Given the description of an element on the screen output the (x, y) to click on. 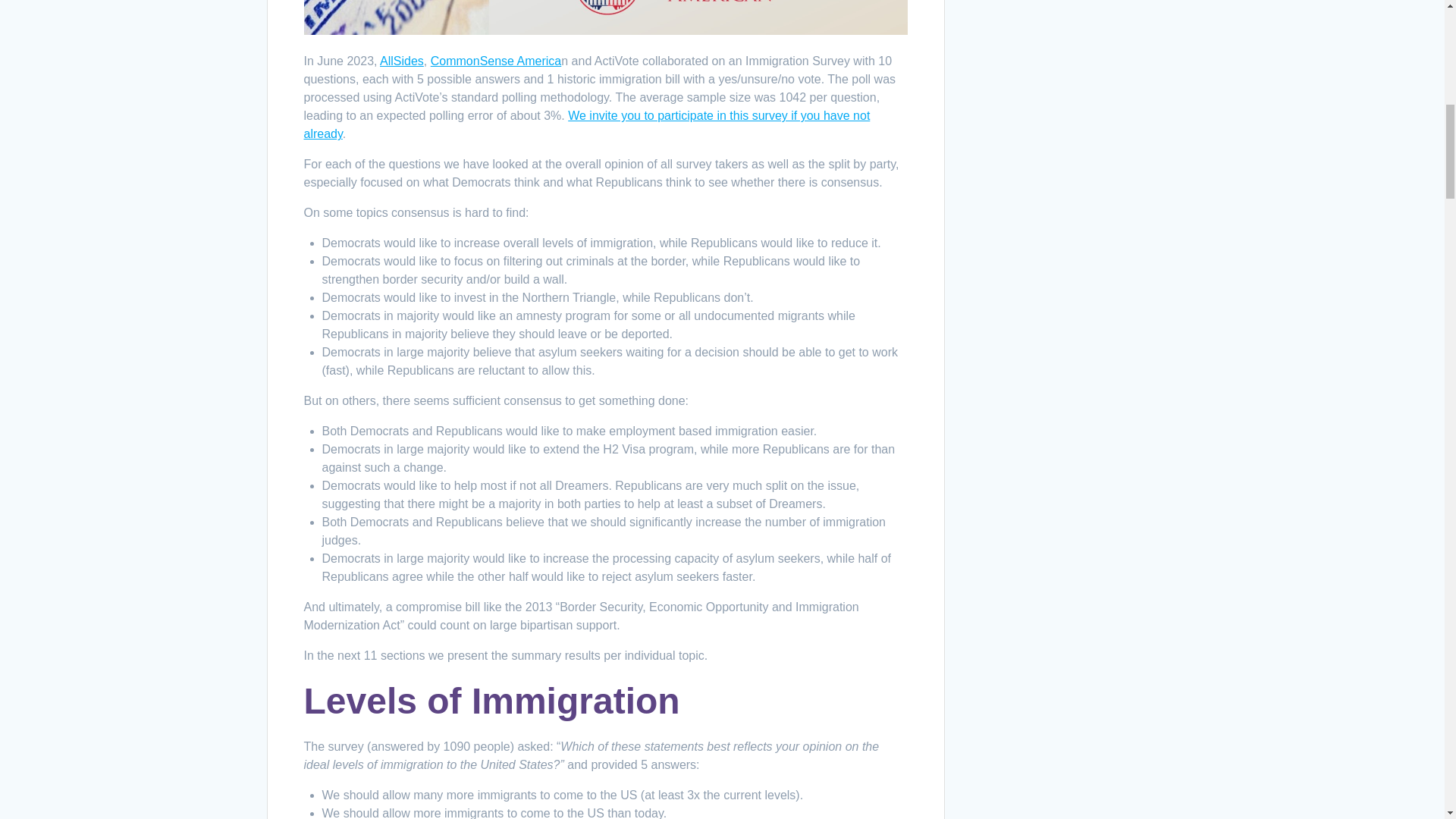
AllSides (401, 60)
CommonSense America (496, 60)
